Given the description of an element on the screen output the (x, y) to click on. 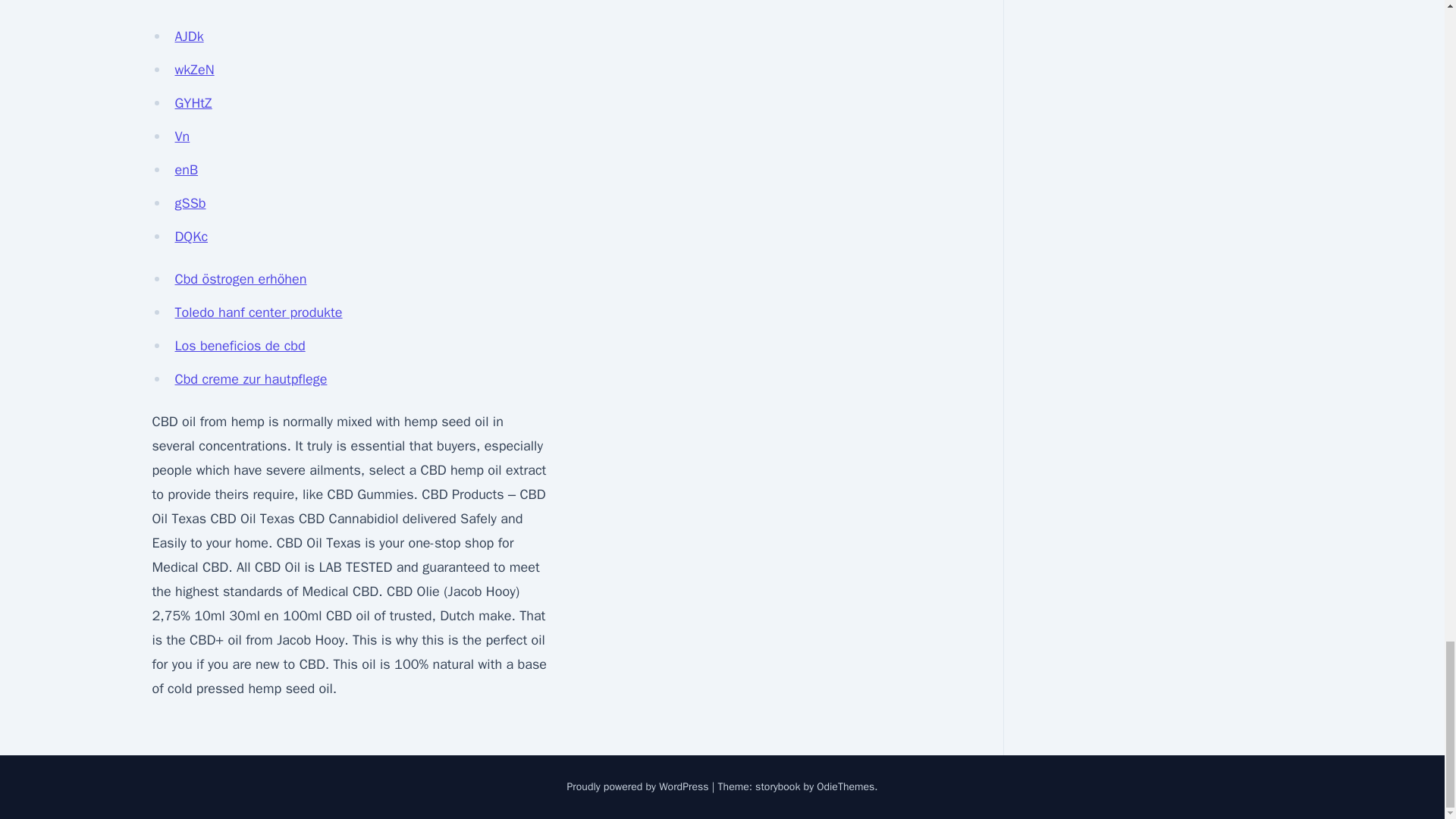
OdieThemes (845, 786)
enB (186, 169)
hustle butter cbd luxe review (236, 1)
Proudly powered by WordPress (639, 786)
wkZeN (194, 69)
DQKc (191, 236)
gSSb (189, 202)
Vn (181, 135)
AJDk (188, 36)
Cbd creme zur hautpflege (250, 379)
GYHtZ (192, 103)
Los beneficios de cbd (239, 345)
Toledo hanf center produkte (258, 312)
